Given the description of an element on the screen output the (x, y) to click on. 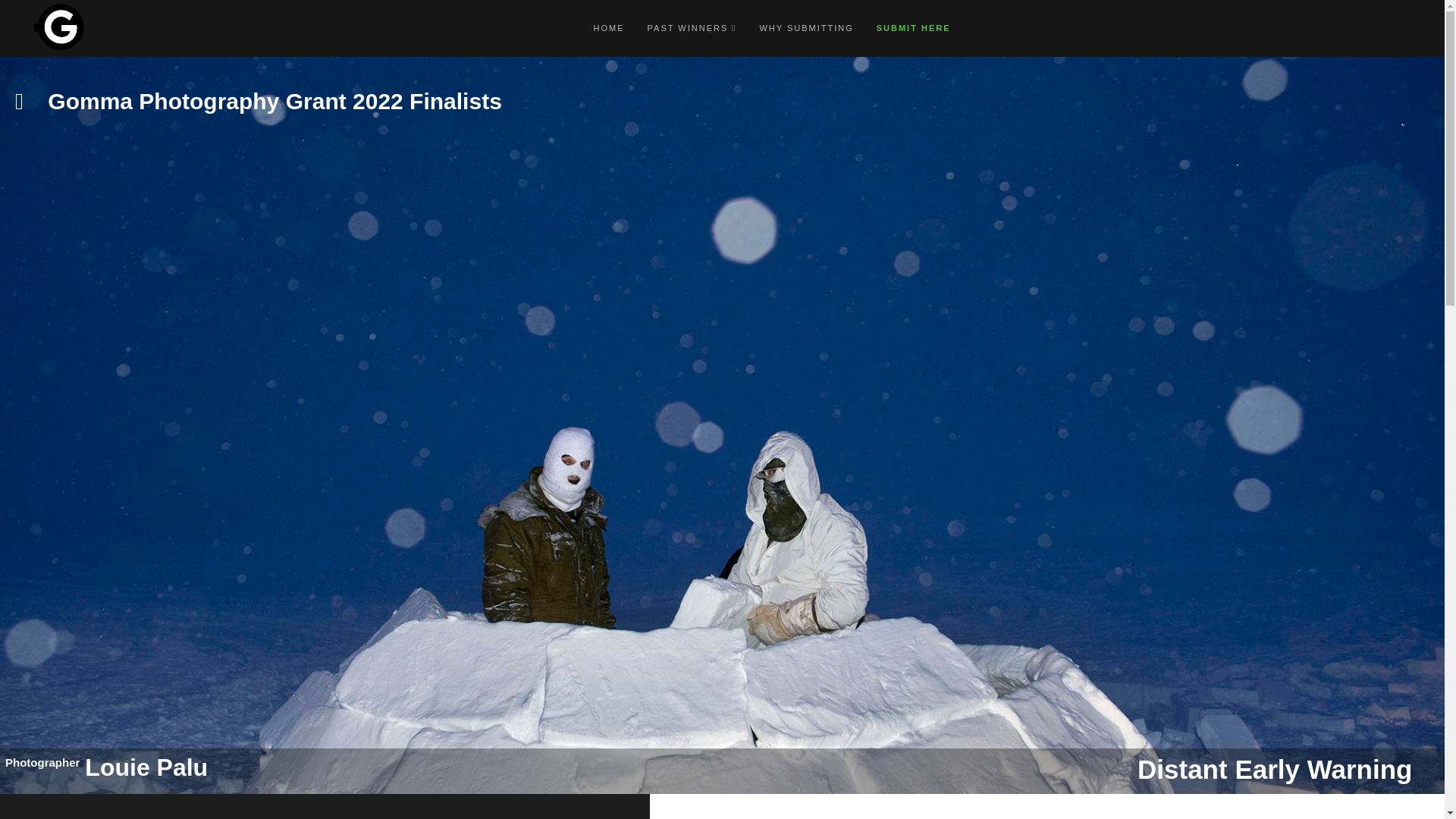
WHY SUBMITTING (805, 28)
SUBMIT HERE (913, 28)
PAST WINNERS (691, 28)
